Given the description of an element on the screen output the (x, y) to click on. 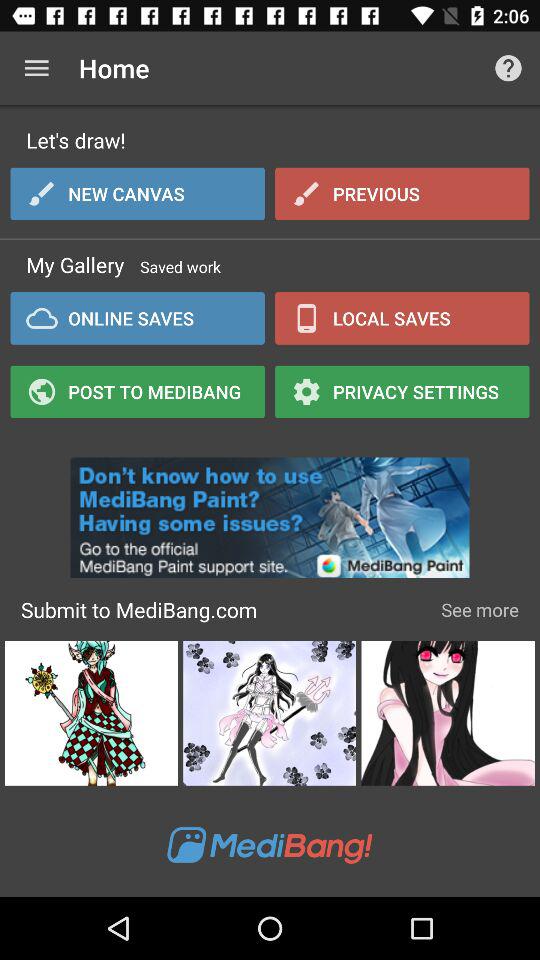
turn off the see more item (479, 609)
